Given the description of an element on the screen output the (x, y) to click on. 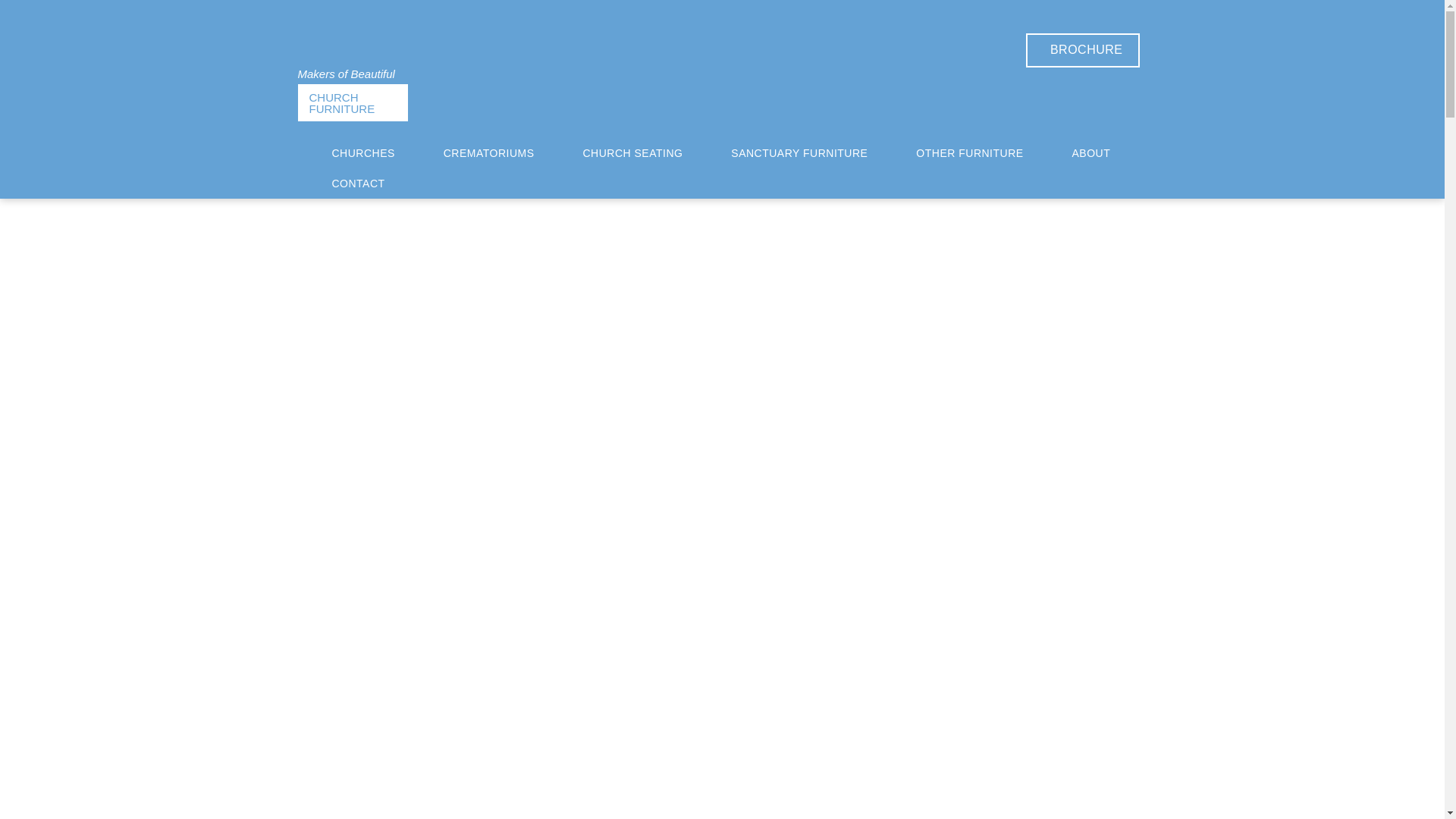
CREMATORIUMS (489, 153)
BROCHURE (1083, 50)
CHURCHES (396, 44)
